Given the description of an element on the screen output the (x, y) to click on. 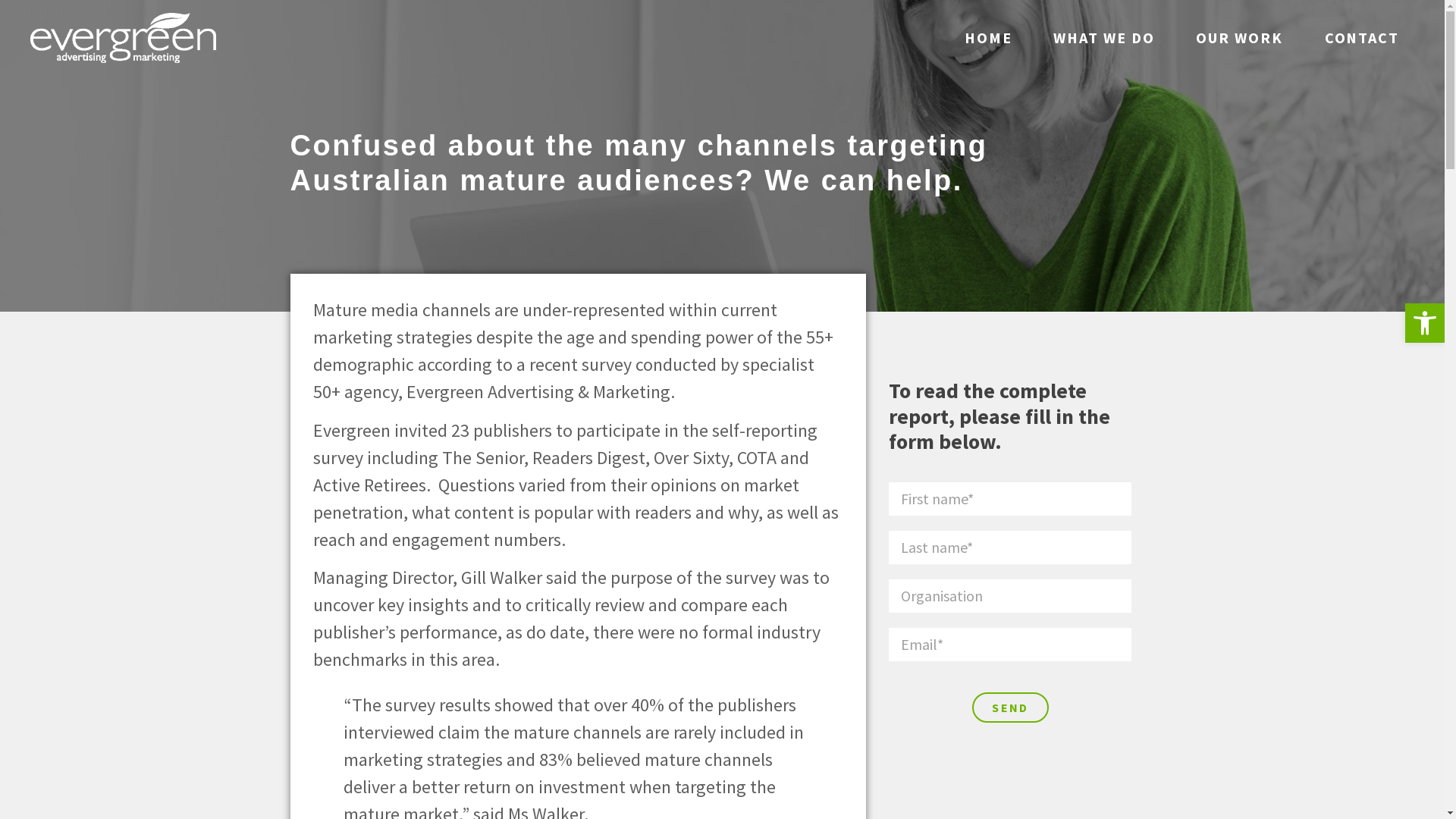
Open toolbar
Accessibility Tools Element type: text (1424, 322)
OUR WORK Element type: text (1238, 37)
WHAT WE DO Element type: text (1103, 37)
HOME Element type: text (988, 37)
SEND Element type: text (1010, 707)
CONTACT Element type: text (1361, 37)
